Given the description of an element on the screen output the (x, y) to click on. 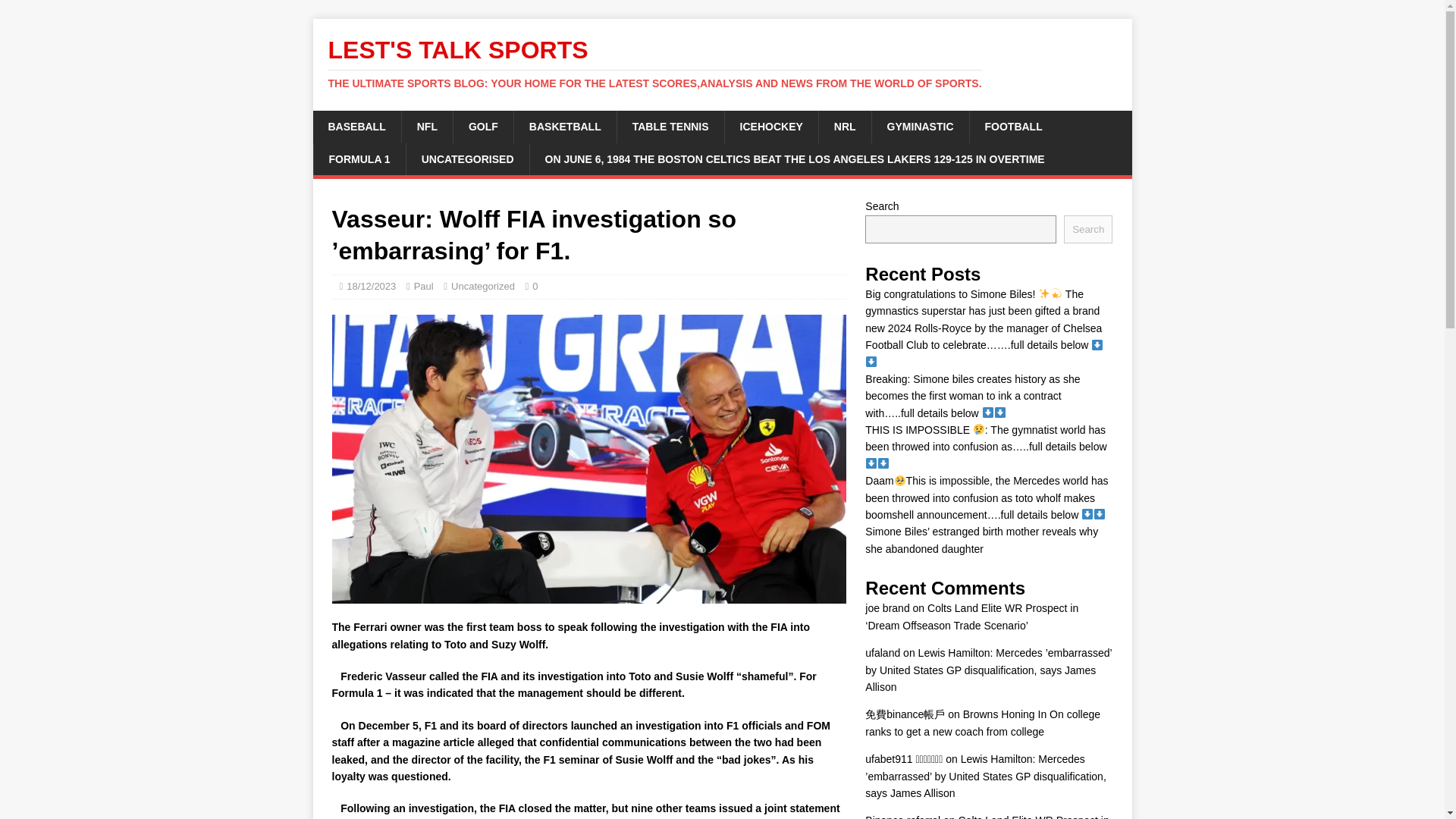
NRL (844, 126)
GYMINASTIC (919, 126)
BASEBALL (356, 126)
Paul (423, 285)
FOOTBALL (1013, 126)
Uncategorized (483, 285)
TABLE TENNIS (669, 126)
BASKETBALL (564, 126)
